Given the description of an element on the screen output the (x, y) to click on. 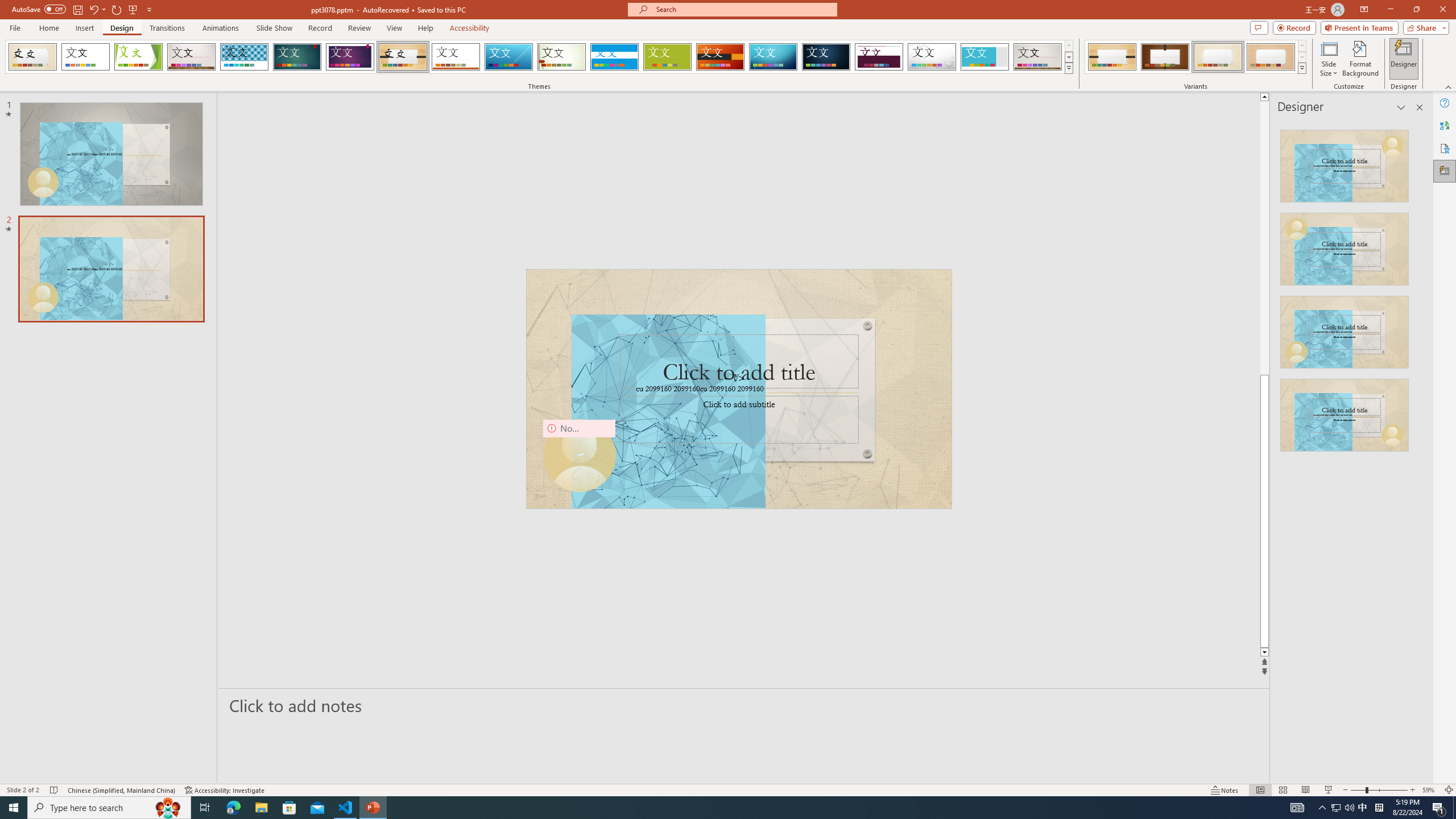
Retrospect (455, 56)
Camera 9, No camera detected. (578, 455)
TextBox 61 (737, 389)
Office Theme (85, 56)
Droplet (931, 56)
